Given the description of an element on the screen output the (x, y) to click on. 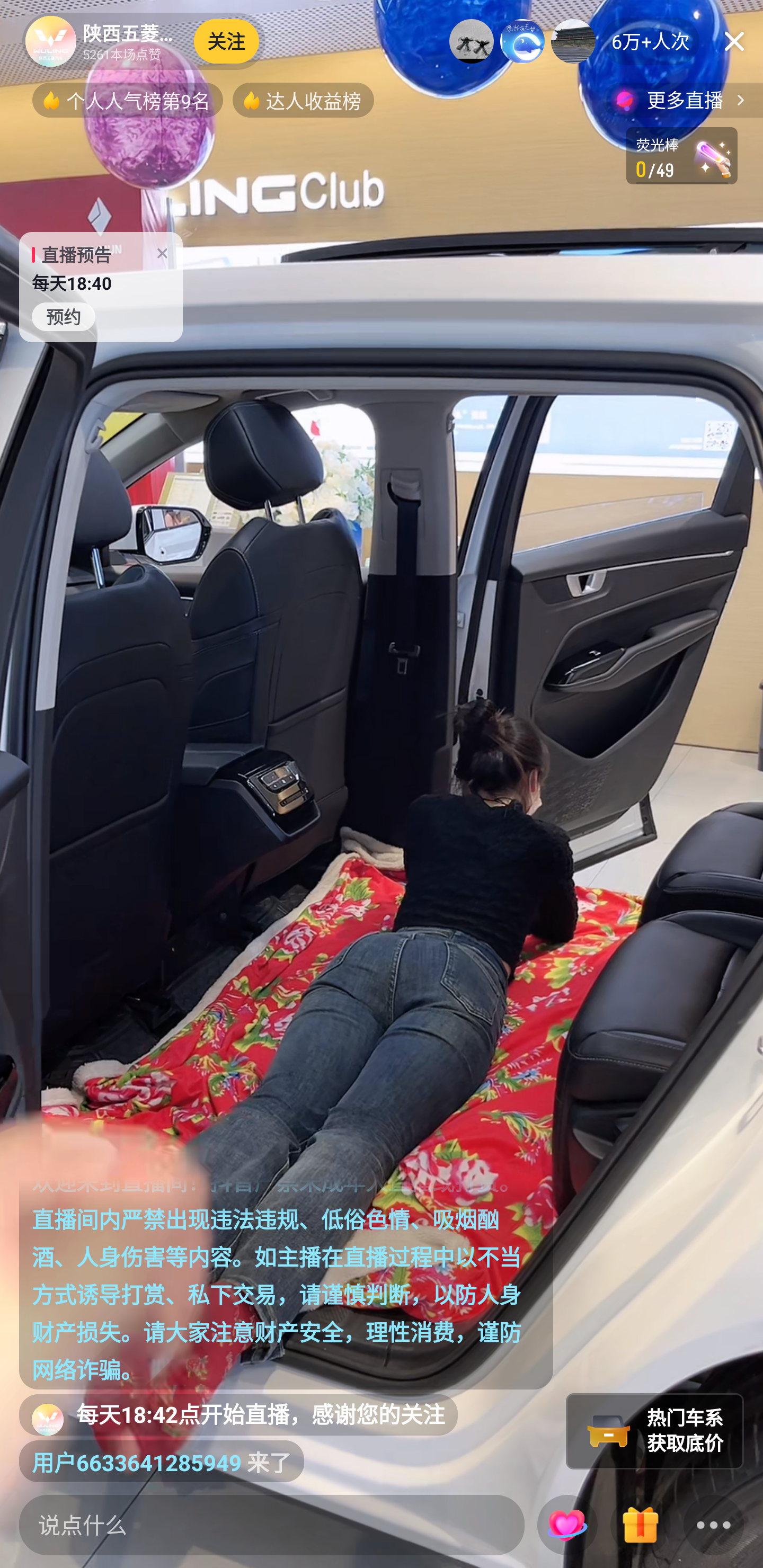
榜一 F (471, 41)
榜二 七雨飘 (522, 41)
榜三 du (572, 41)
主播陕西五菱旗舰店 5261本场点赞  陕西五菱旗舰店 5261本场点赞 关注 (143, 41)
6万+人次 (650, 41)
关注 (226, 41)
关闭 (733, 41)
个人人气榜第9名，按钮 (127, 100)
达人收益榜，按钮 (302, 100)
更多直播 (682, 100)
心愿单 SaaS任务Banner 心愿单- (681, 156)
关闭预告贴片 (162, 249)
预约 按钮 预约 (63, 316)
热门车系 获取底价 (654, 1431)
说点什么 表情入口 (271, 1524)
小心心 (567, 1526)
礼物 (640, 1526)
更多面板 按钮 (713, 1526)
